Given the description of an element on the screen output the (x, y) to click on. 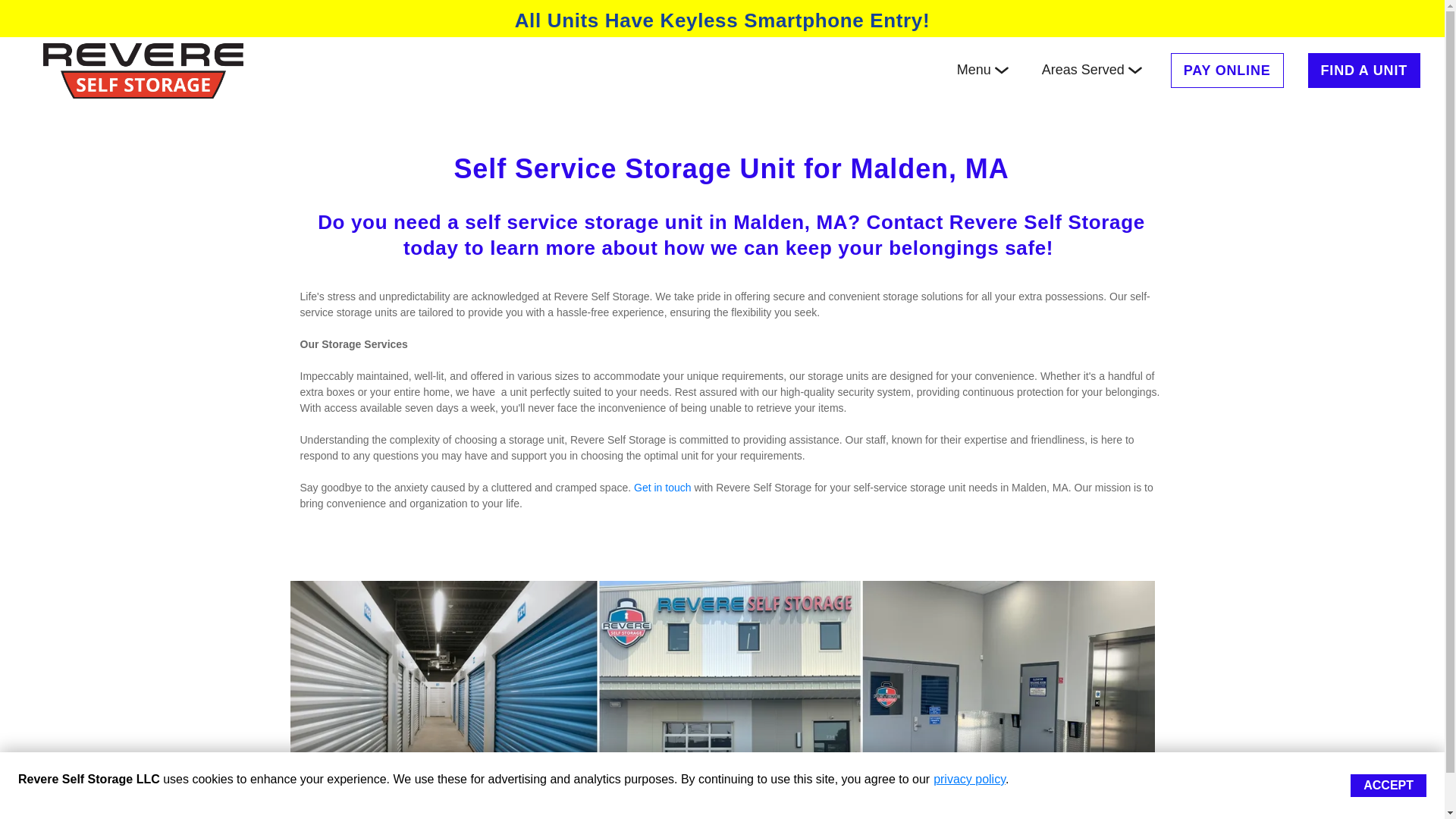
ACCEPT (1388, 784)
Get in touch (662, 487)
Areas Servedgroup (1091, 70)
group (1134, 69)
group (1001, 69)
FIND A UNIT (1364, 70)
Revere Self Storage Logo (143, 69)
privacy policy (969, 779)
Menugroup (982, 70)
PAY ONLINE (1227, 70)
